Given the description of an element on the screen output the (x, y) to click on. 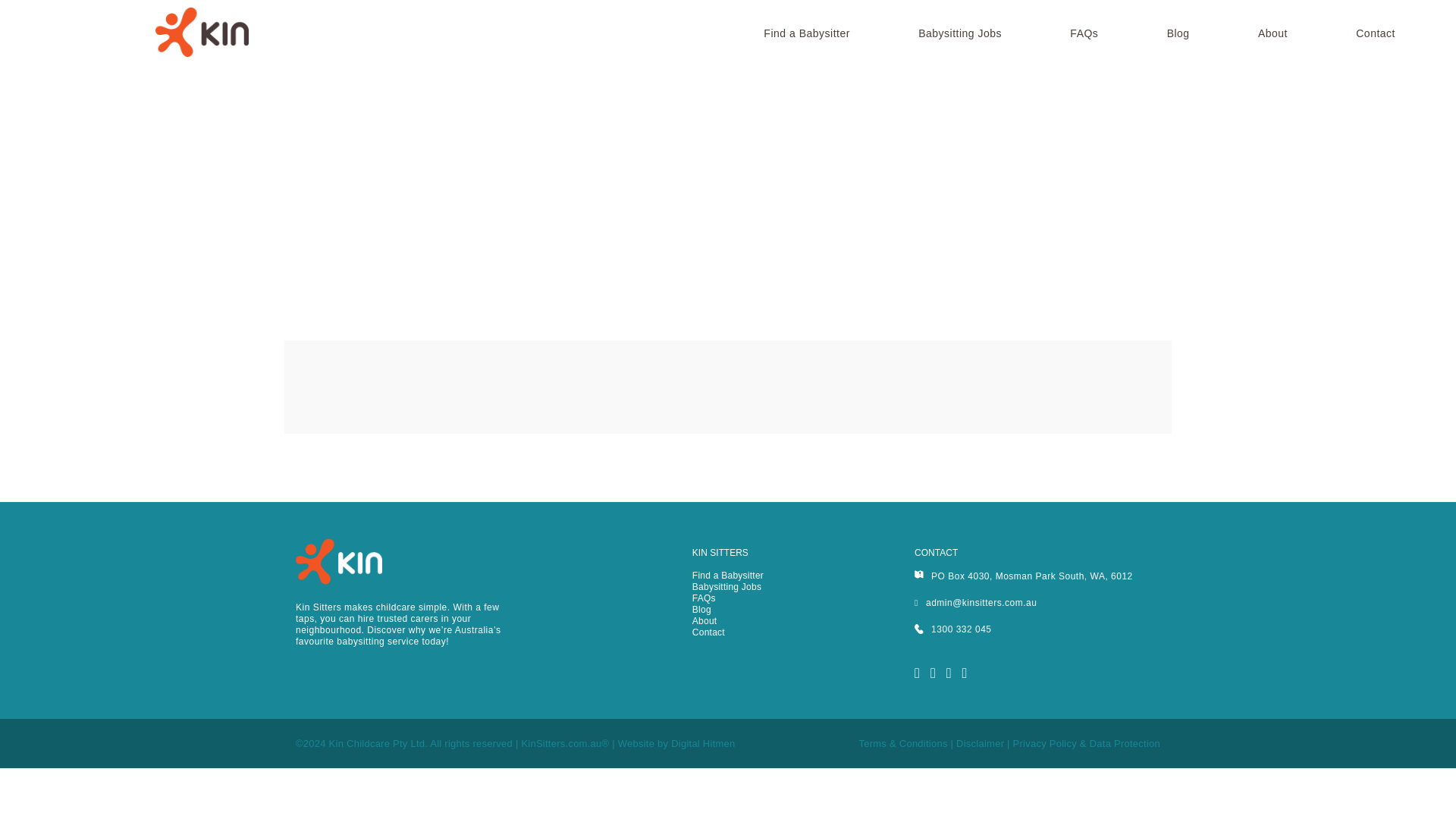
Kin Sitters - Perth babysitters (201, 31)
Contact (709, 632)
Babysitting Jobs (959, 33)
1300 332 045 (952, 629)
FAQs (704, 597)
About (705, 620)
Find a Babysitter (727, 575)
Blog (702, 609)
Disclaimer (980, 743)
FAQs (1083, 33)
